Given the description of an element on the screen output the (x, y) to click on. 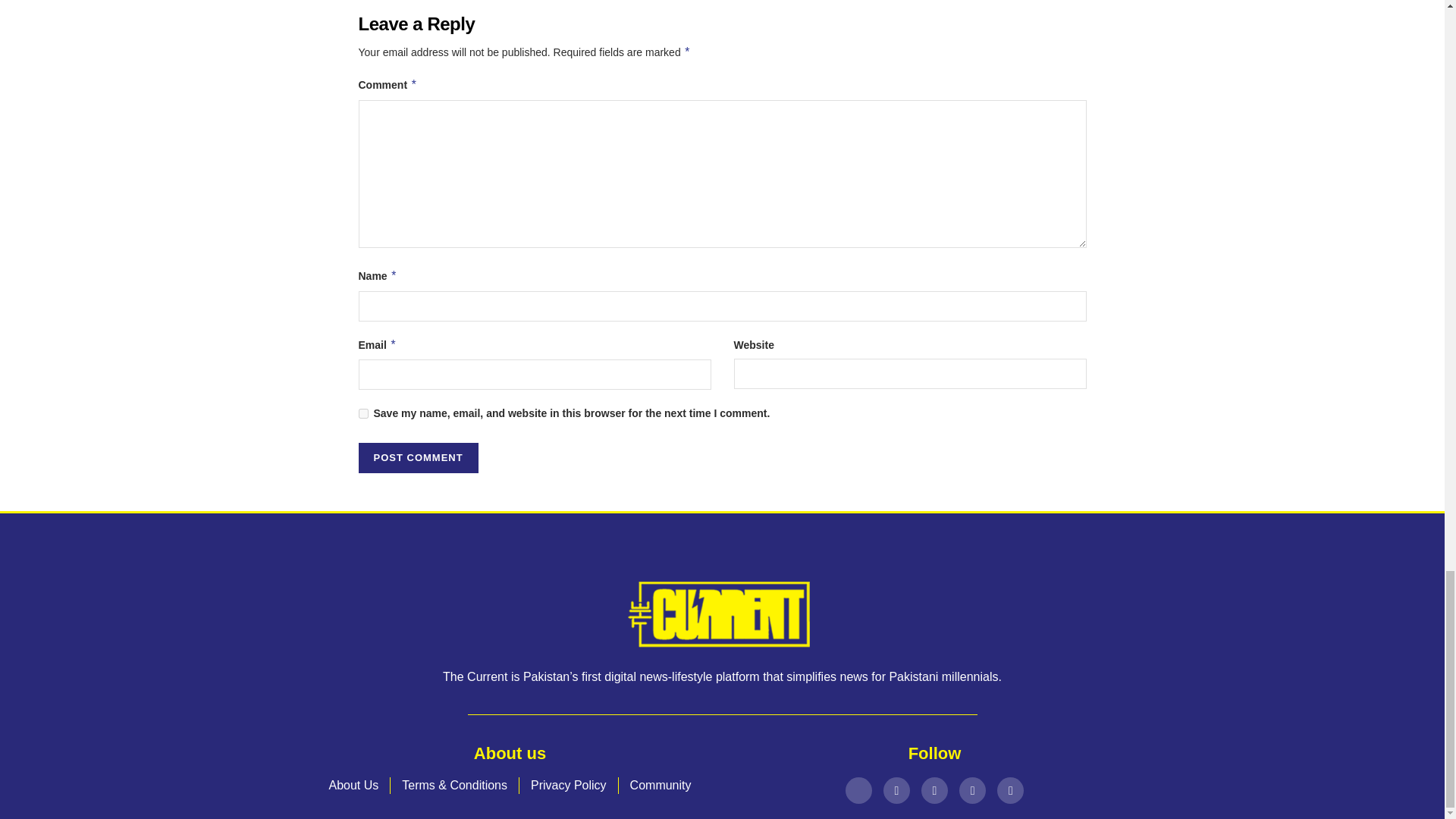
Post Comment (417, 458)
yes (363, 413)
